Given the description of an element on the screen output the (x, y) to click on. 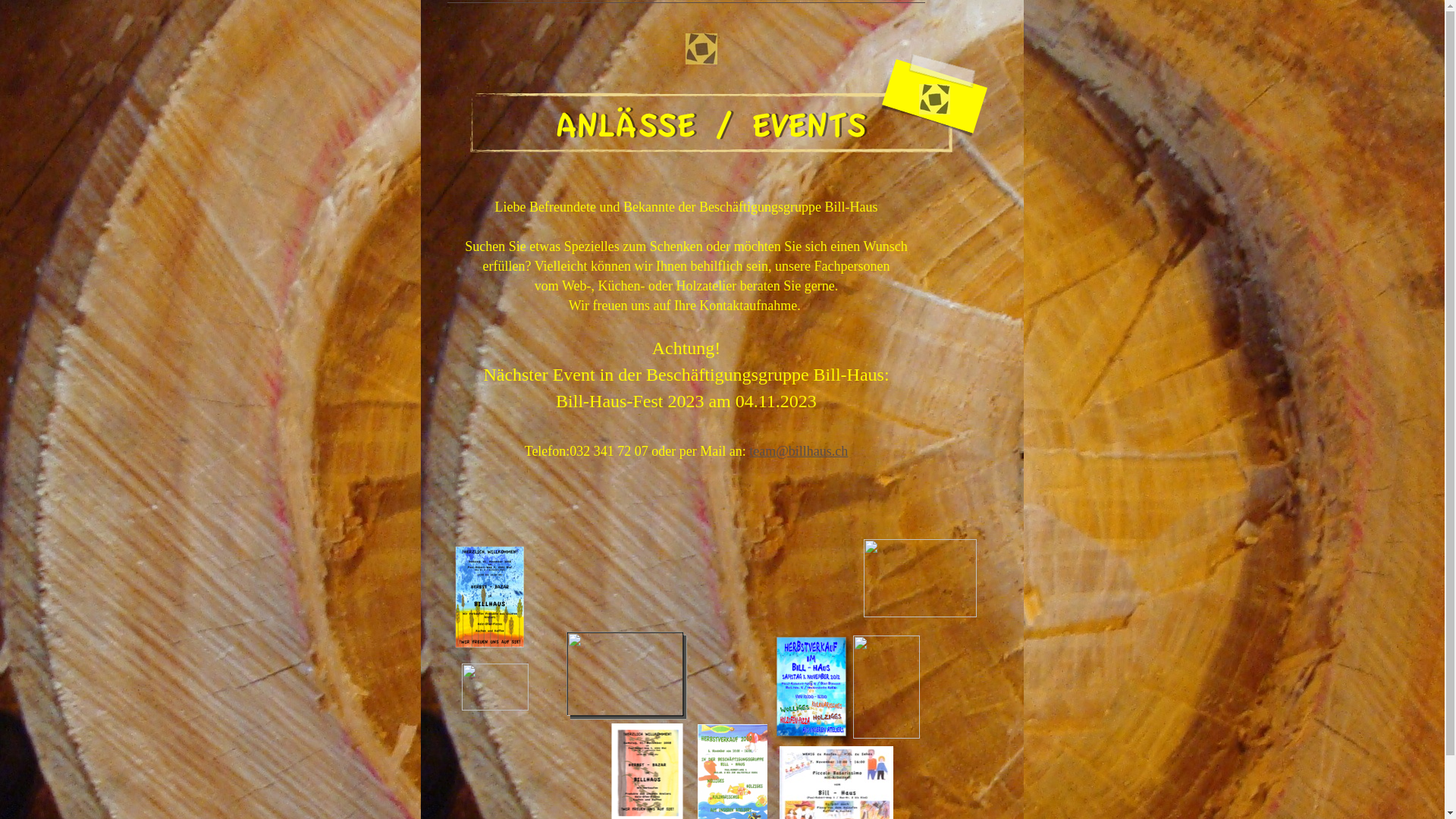
team@billhaus.ch Element type: text (798, 450)
